Given the description of an element on the screen output the (x, y) to click on. 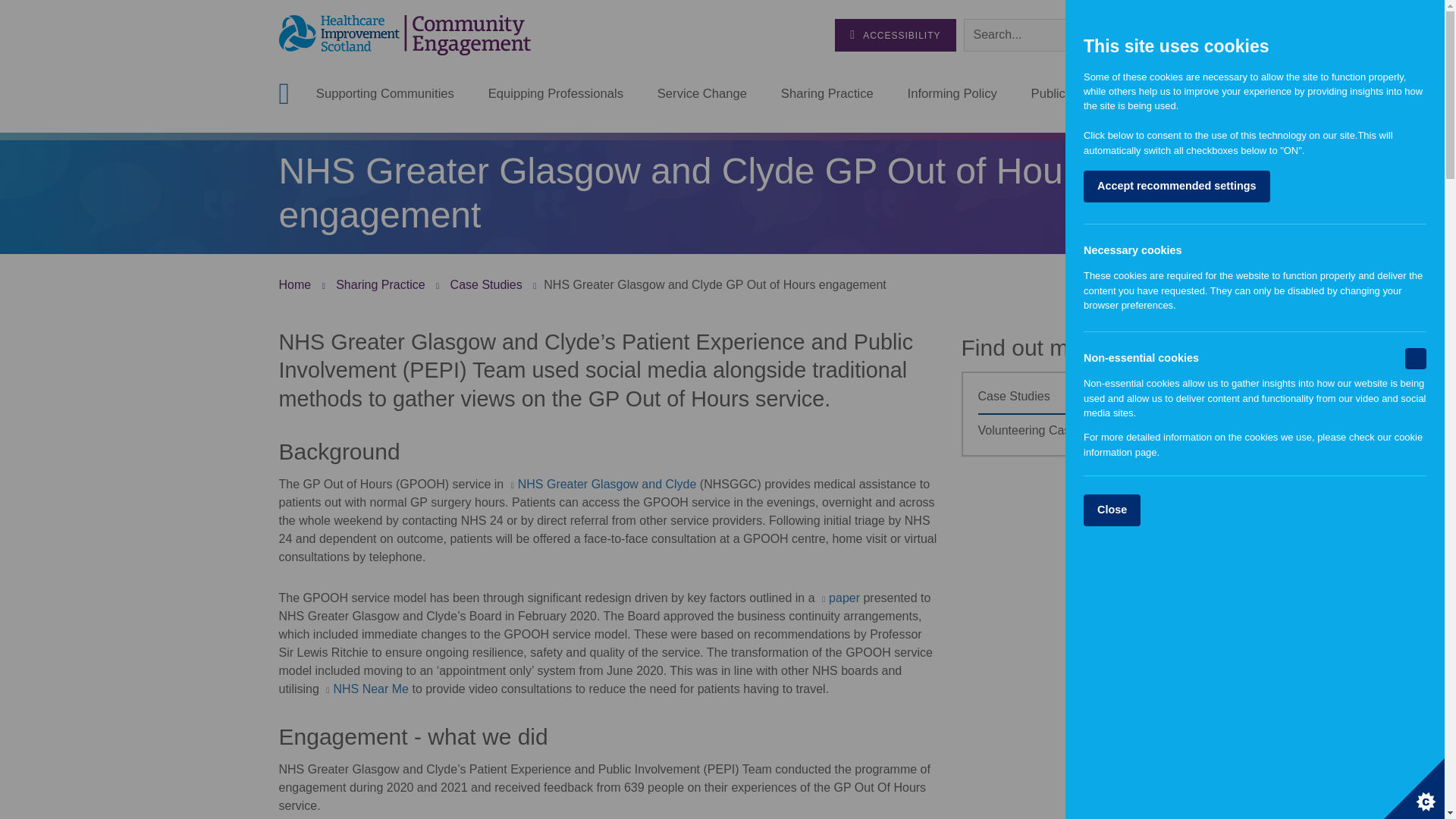
Service Change (702, 93)
Link opens in a new window (839, 597)
ACCESSIBILITY (894, 34)
Informing Policy (952, 93)
Link opens in a new window (601, 483)
Search (1150, 34)
Sharing Practice (826, 93)
Equipping Professionals (555, 93)
Supporting Communities (384, 93)
Link opens in a new window (365, 688)
